Given the description of an element on the screen output the (x, y) to click on. 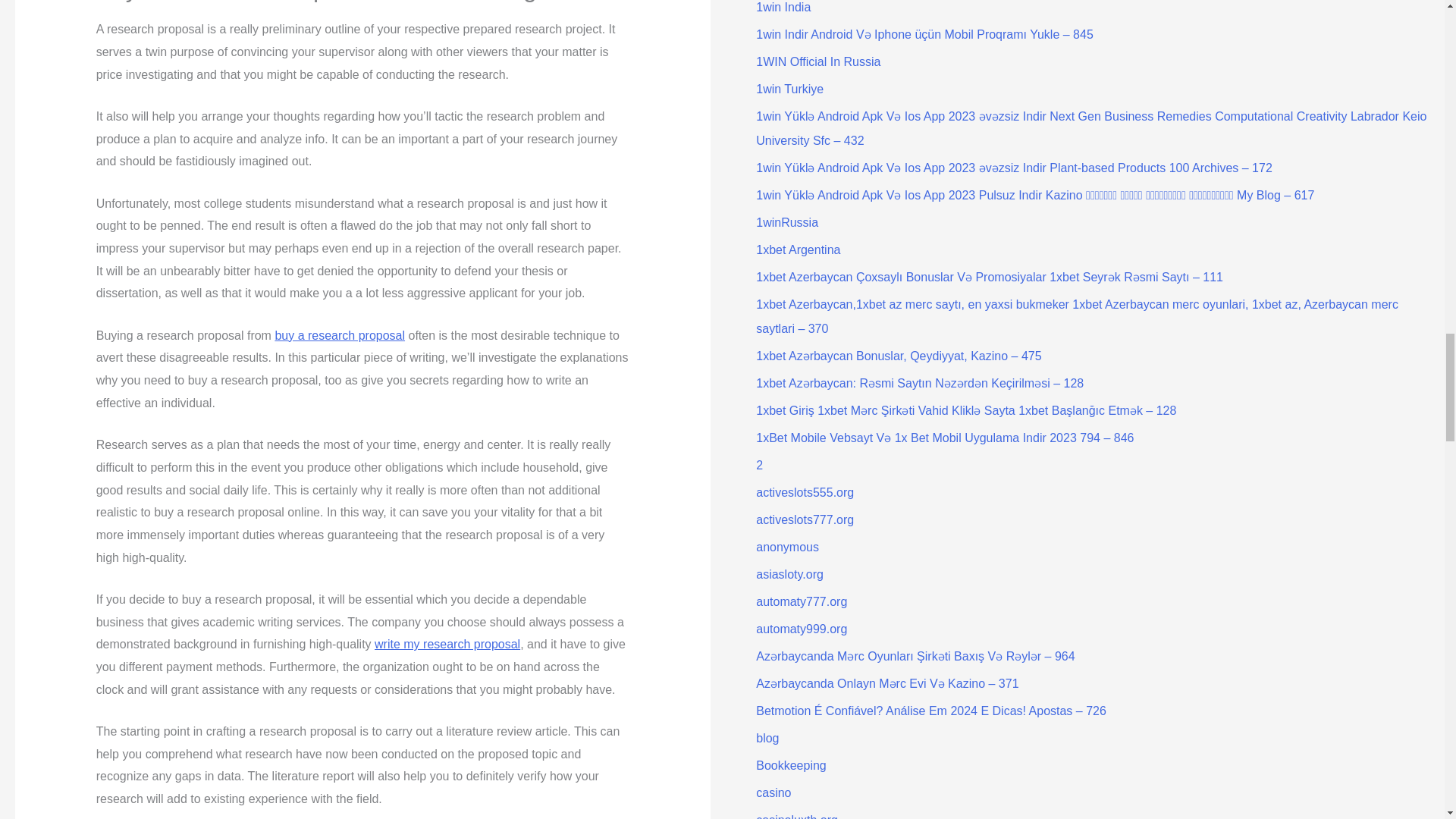
write my research proposal (446, 644)
buy a research proposal (339, 335)
